Given the description of an element on the screen output the (x, y) to click on. 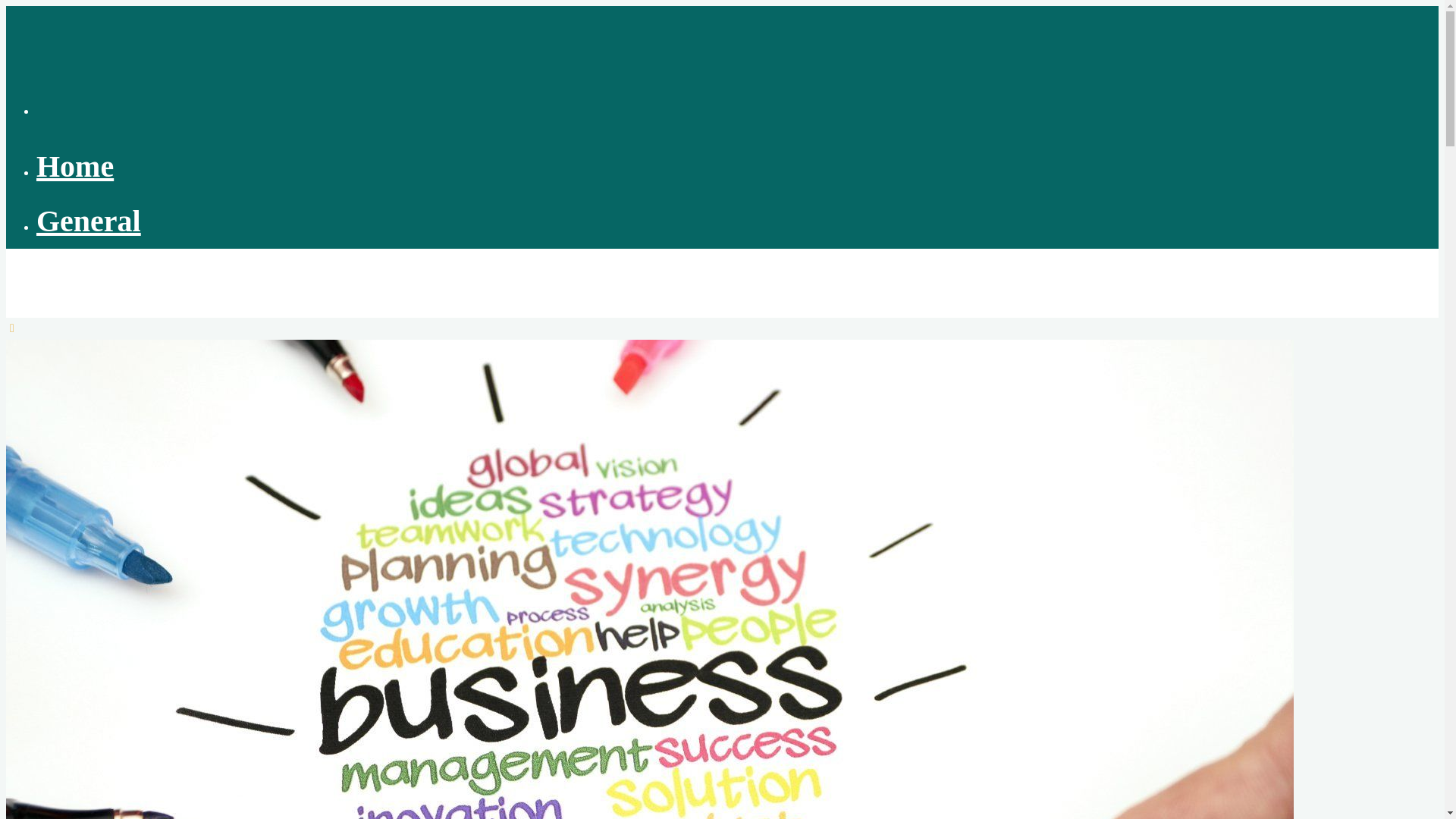
Home (74, 166)
General (88, 220)
Home (50, 414)
Read more (11, 327)
Blog (49, 274)
General (55, 472)
TeteZo News (49, 274)
